Given the description of an element on the screen output the (x, y) to click on. 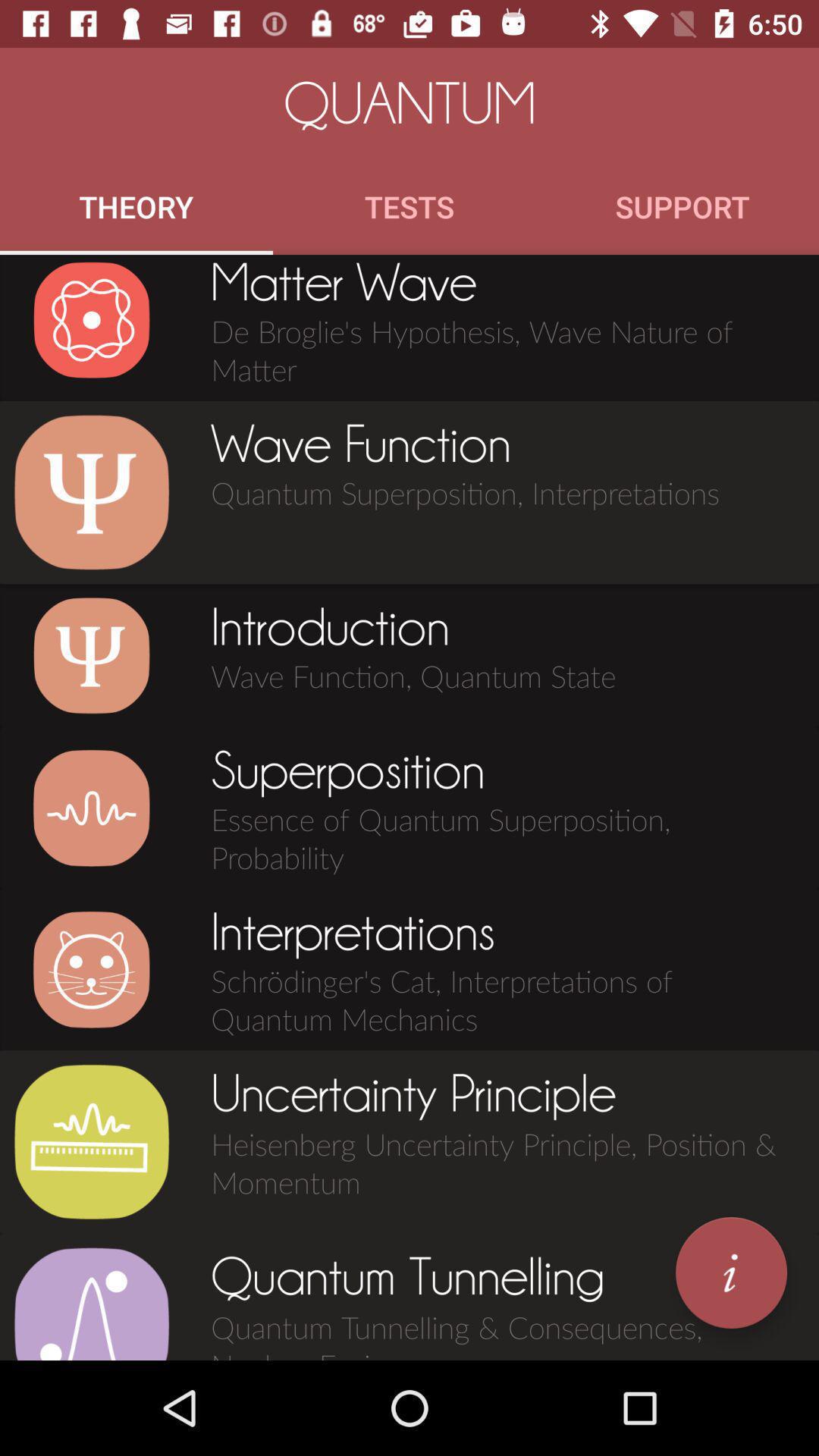
open icon to the right of quantum tunnelling item (731, 1272)
